Given the description of an element on the screen output the (x, y) to click on. 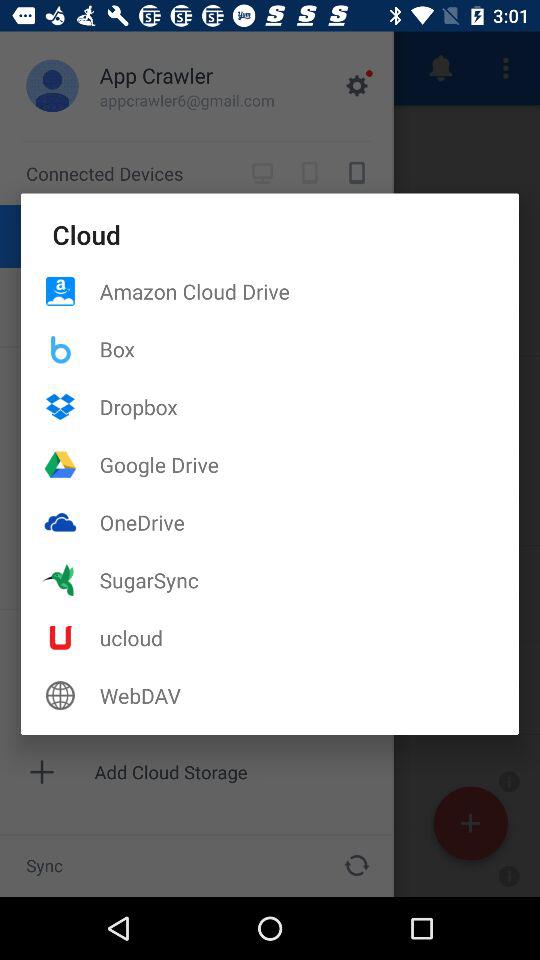
turn off the item above the box icon (309, 291)
